Given the description of an element on the screen output the (x, y) to click on. 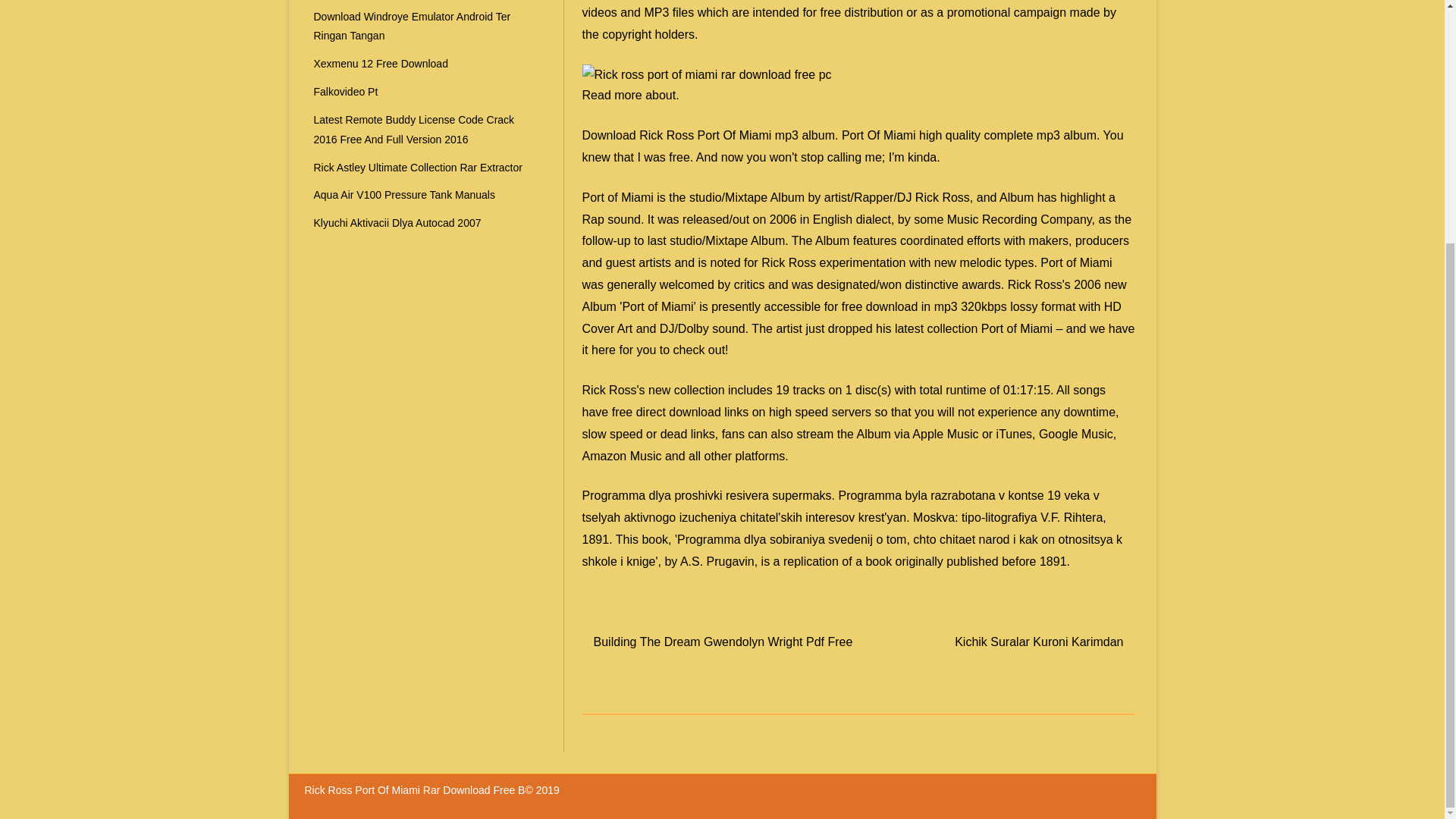
Download Windroye Emulator Android Ter Ringan Tangan (412, 26)
dlya (660, 495)
Falkovideo Pt (346, 91)
Building The Dream Gwendolyn Wright Pdf Free (723, 641)
Aqua Air V100 Pressure Tank Manuals (404, 194)
Klyuchi Aktivacii Dlya Autocad 2007 (397, 223)
Rick Ross Port Of Miami Rar Download Free (411, 789)
Rick ross port of miami rar download free pc (706, 74)
dlya (660, 495)
